Given the description of an element on the screen output the (x, y) to click on. 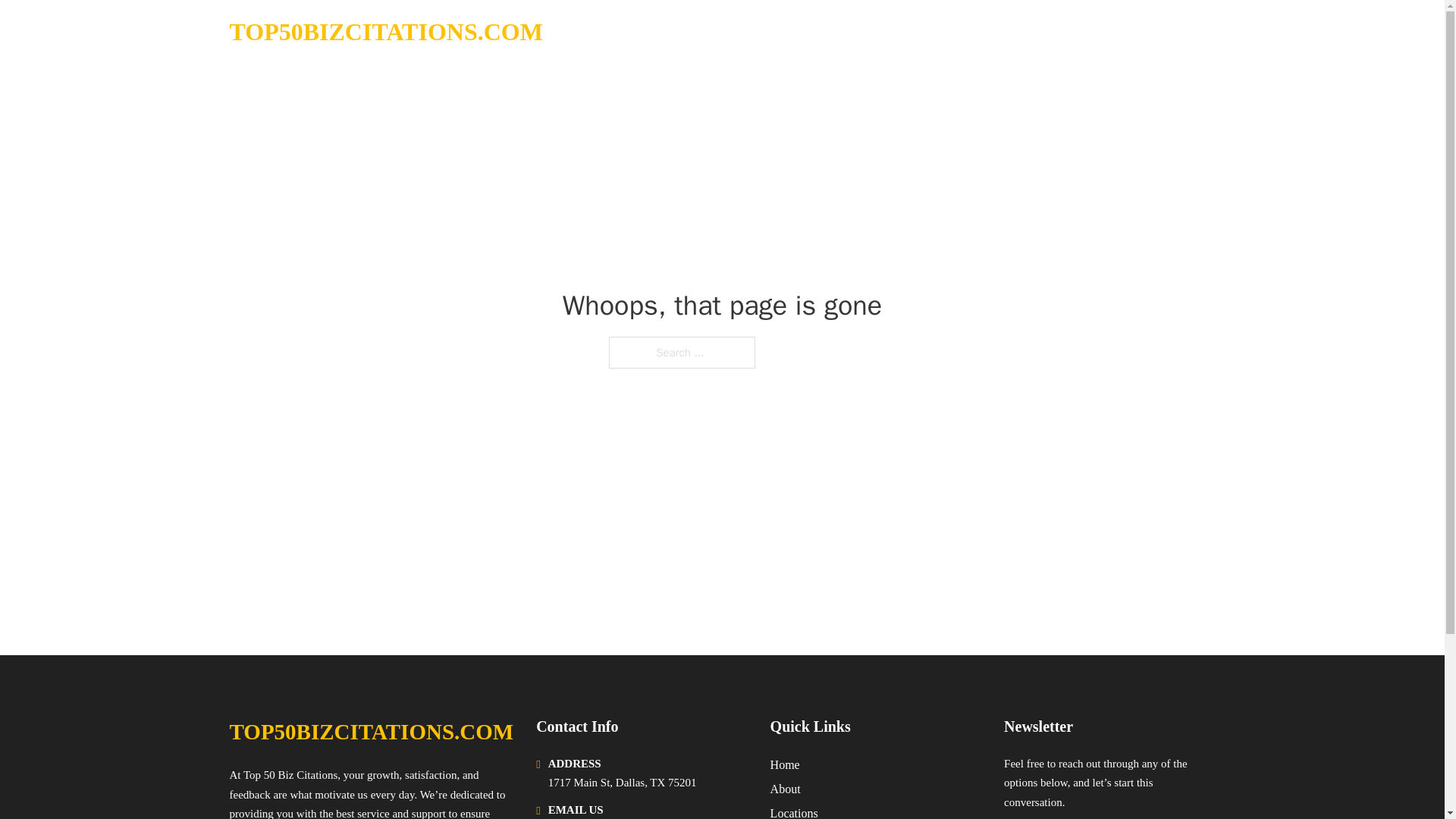
Locations (794, 811)
TOP50BIZCITATIONS.COM (384, 31)
LOCATIONS (1098, 31)
About (785, 788)
Home (784, 764)
HOME (1025, 31)
TOP50BIZCITATIONS.COM (370, 732)
